Given the description of an element on the screen output the (x, y) to click on. 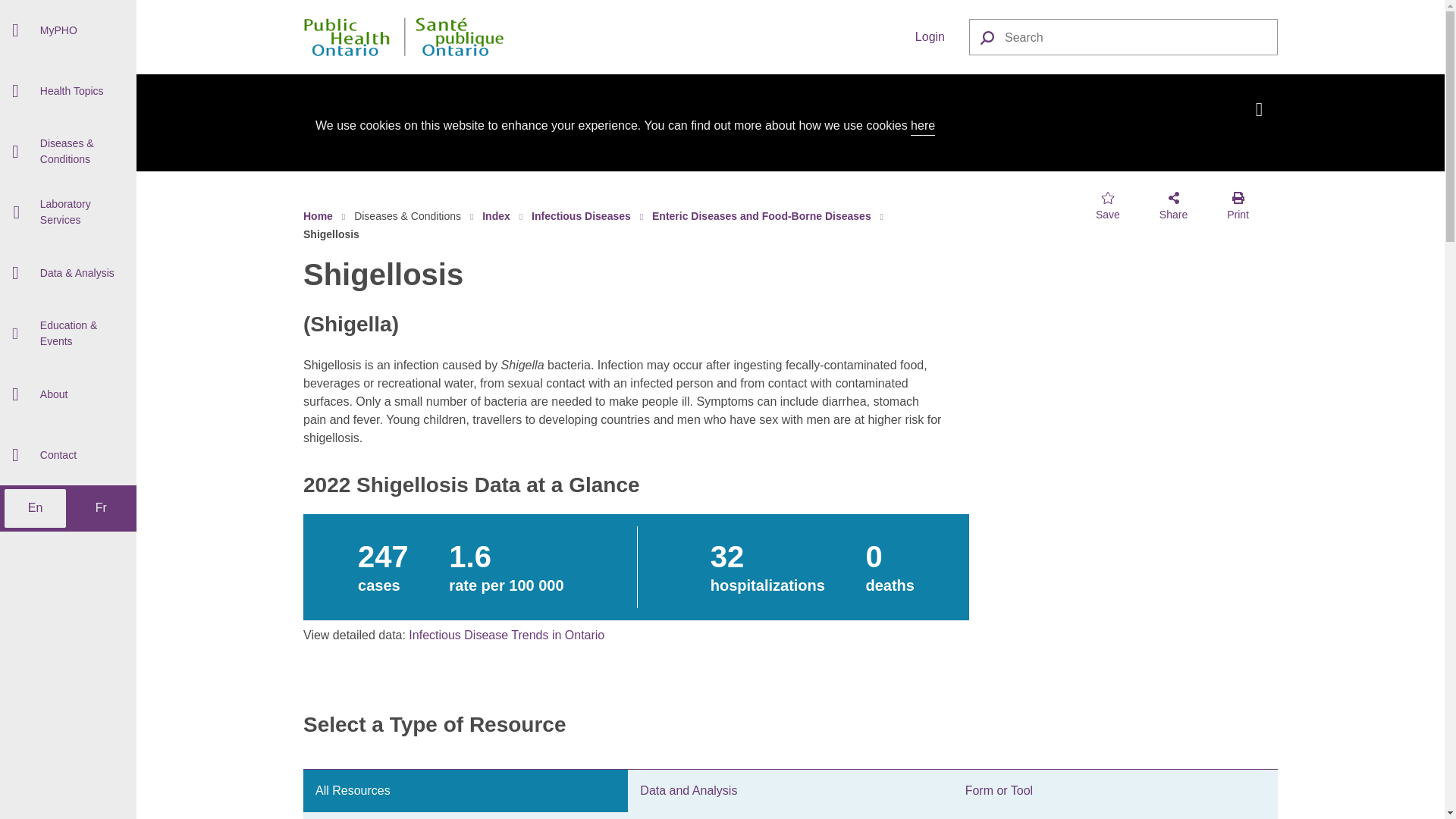
MyPHO (68, 30)
Antimicrobial Stewardship in Acute Care (68, 77)
Antimicrobial Stewardship (68, 28)
Antimicrobial Stewardship in Primary Care (68, 156)
Emergency Preparedness (68, 115)
Air Quality (68, 93)
Urinary Tract Infection Program (68, 302)
Water Quality (68, 291)
Antimicrobial Stewardship (68, 76)
Health Hazards (68, 251)
